Given the description of an element on the screen output the (x, y) to click on. 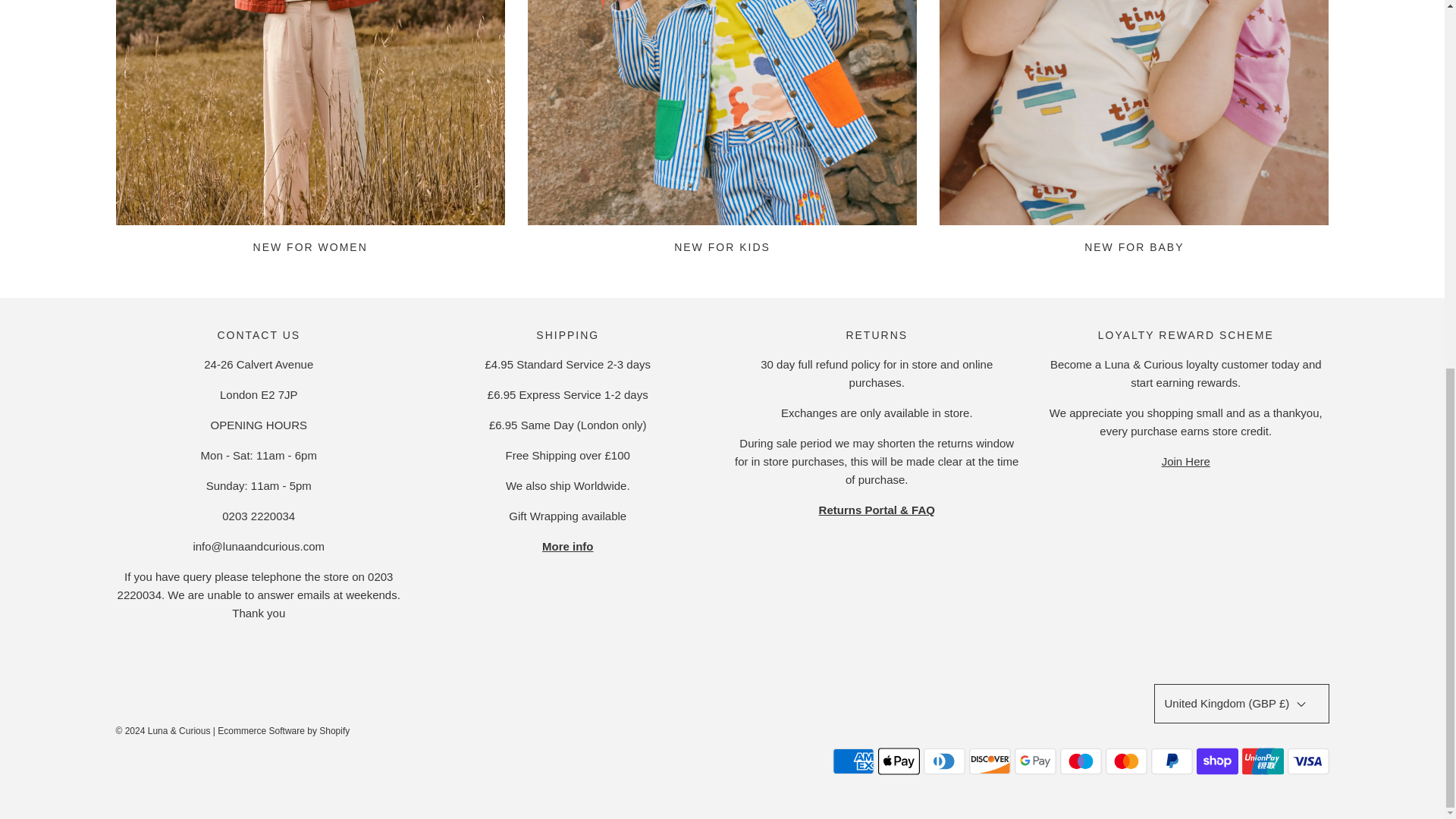
Discover (989, 761)
Diners Club (944, 761)
Google Pay (1035, 761)
Delivery Information (567, 545)
American Express (853, 761)
Returns (876, 509)
Apple Pay (898, 761)
